Given the description of an element on the screen output the (x, y) to click on. 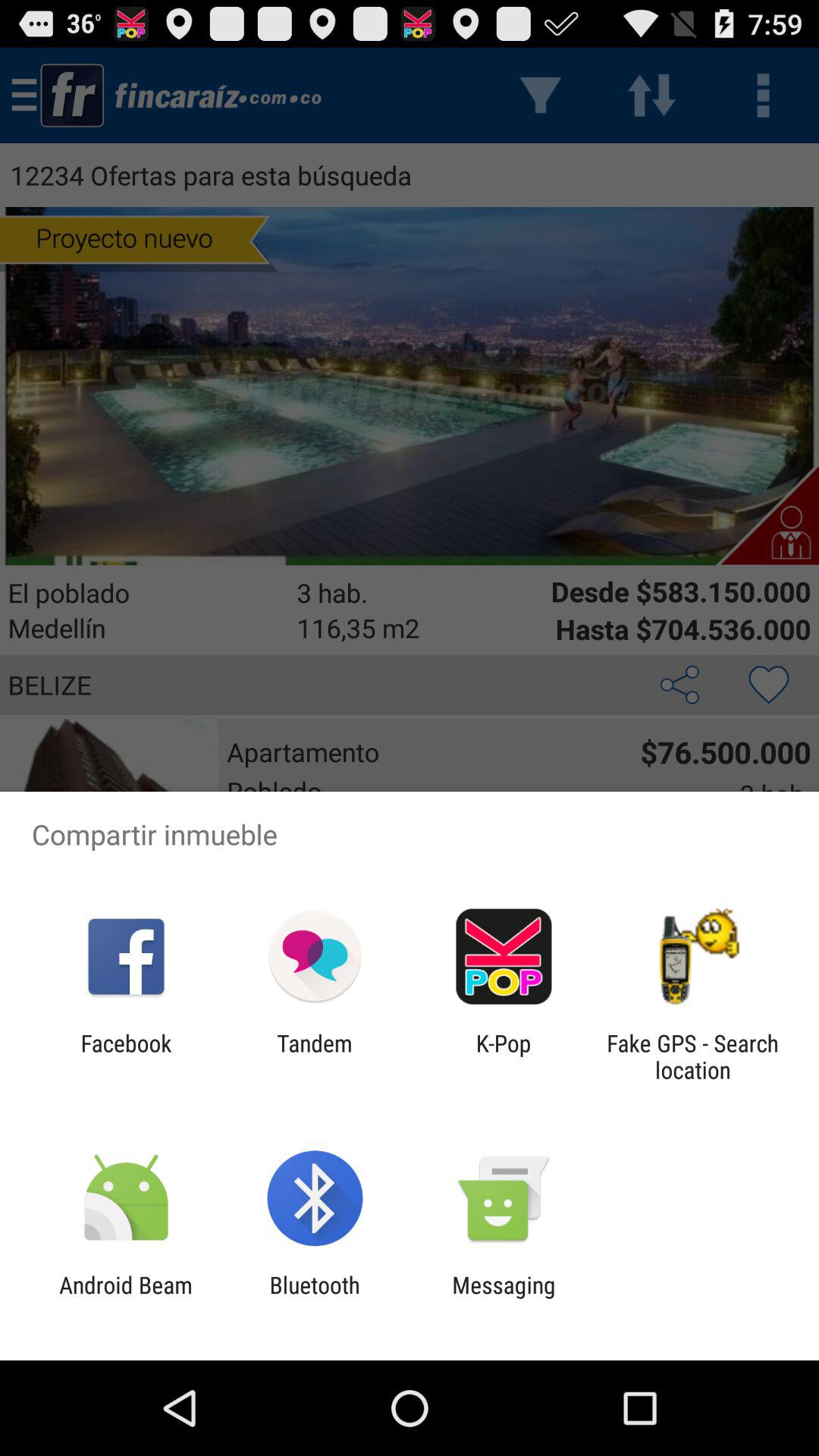
press the app to the right of facebook item (314, 1056)
